Given the description of an element on the screen output the (x, y) to click on. 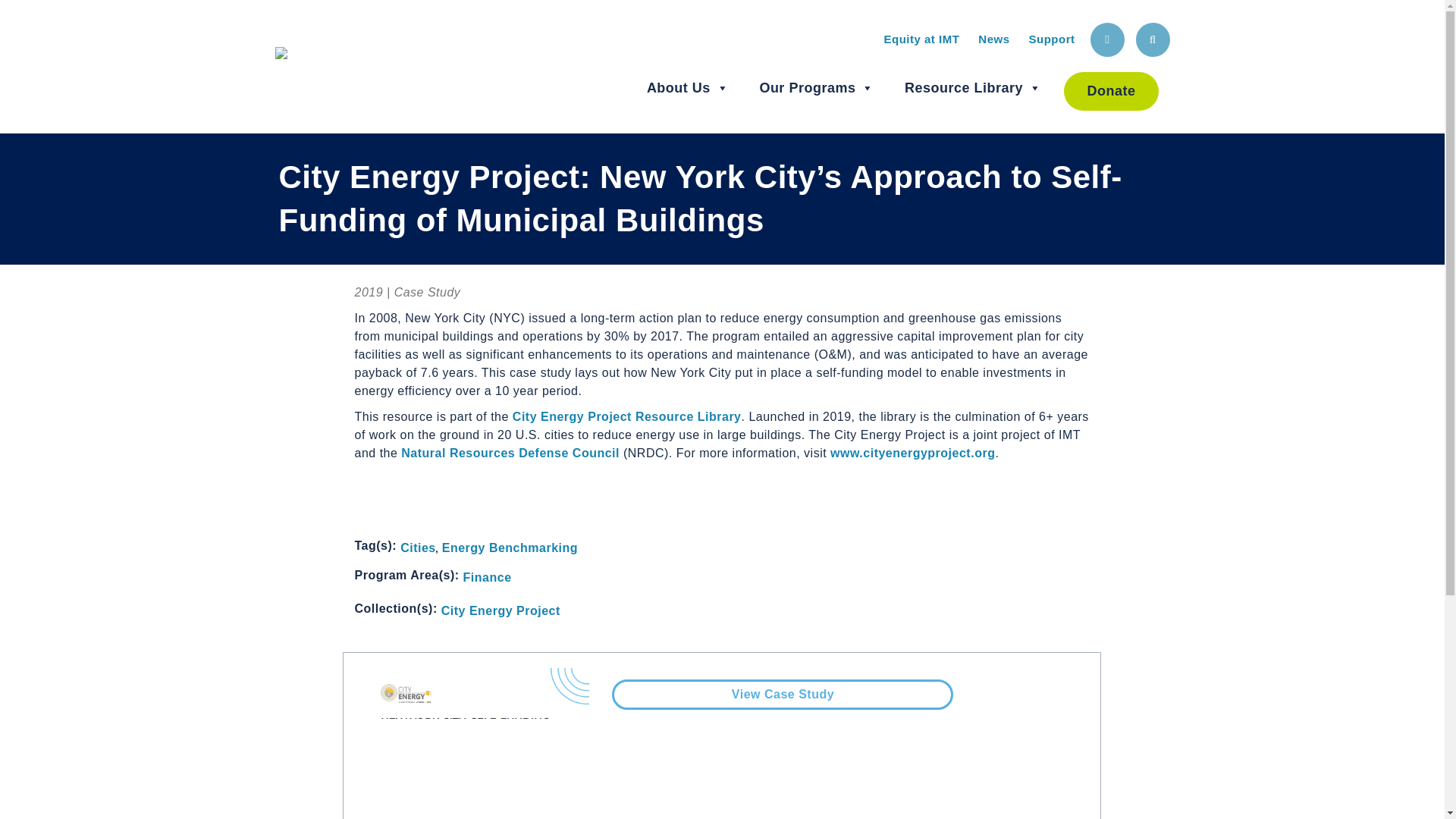
About Us (687, 87)
Search (1152, 39)
Our Programs (816, 87)
Resource Library (972, 87)
Equity at IMT (920, 39)
News (993, 39)
Support (1051, 39)
